Given the description of an element on the screen output the (x, y) to click on. 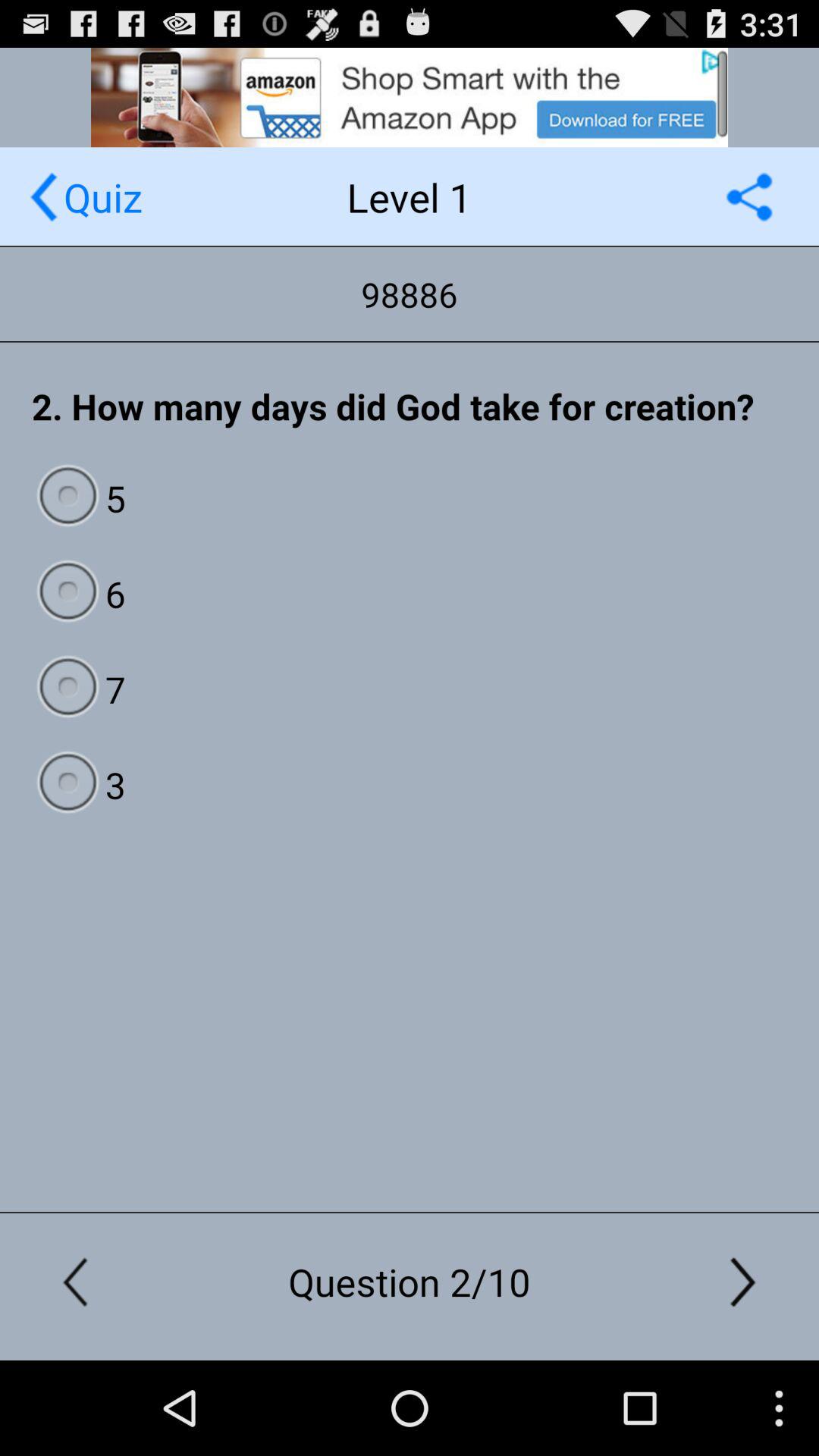
go to website advertisement (409, 97)
